Given the description of an element on the screen output the (x, y) to click on. 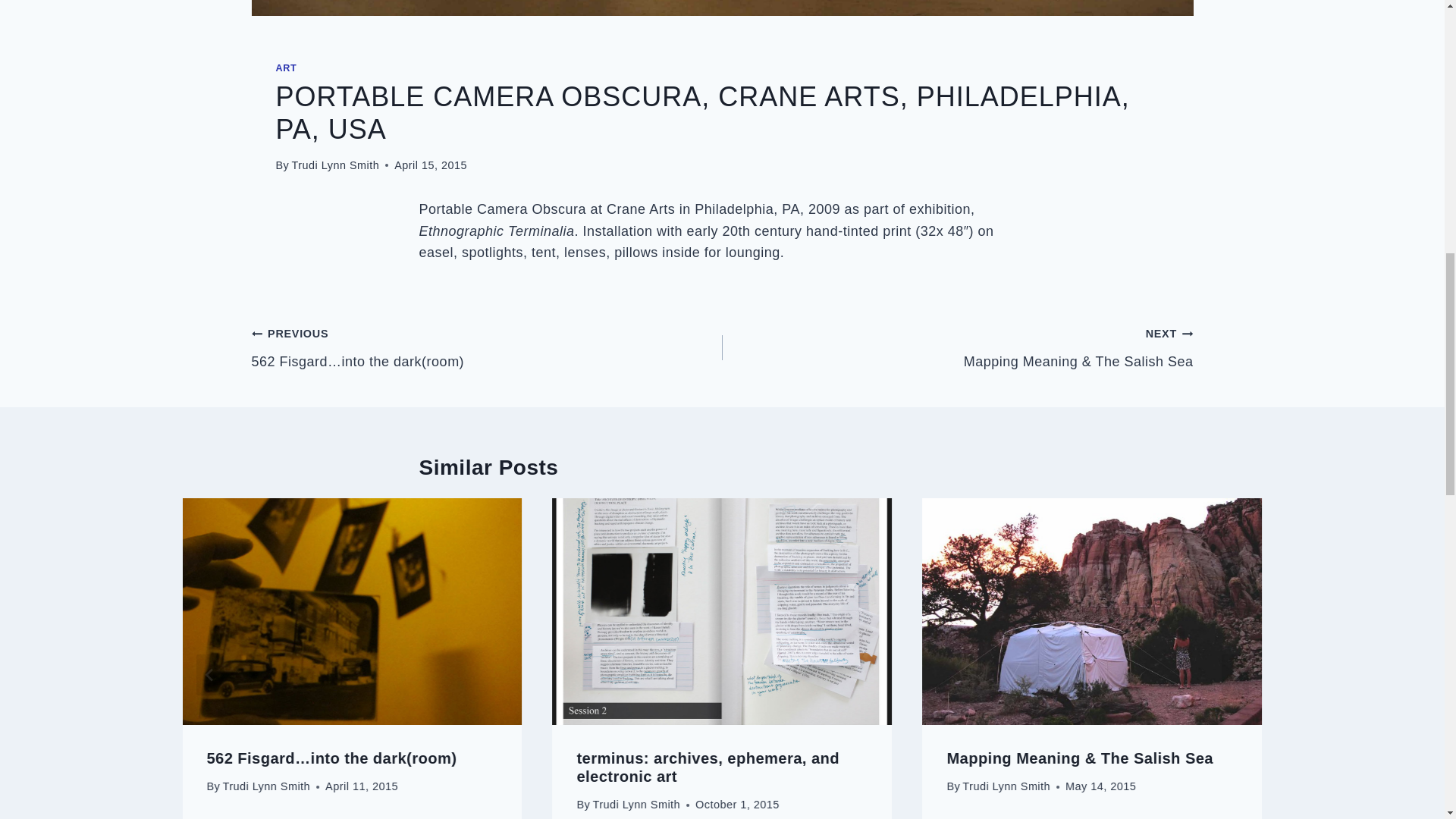
Trudi Lynn Smith (334, 164)
ART (286, 67)
